Given the description of an element on the screen output the (x, y) to click on. 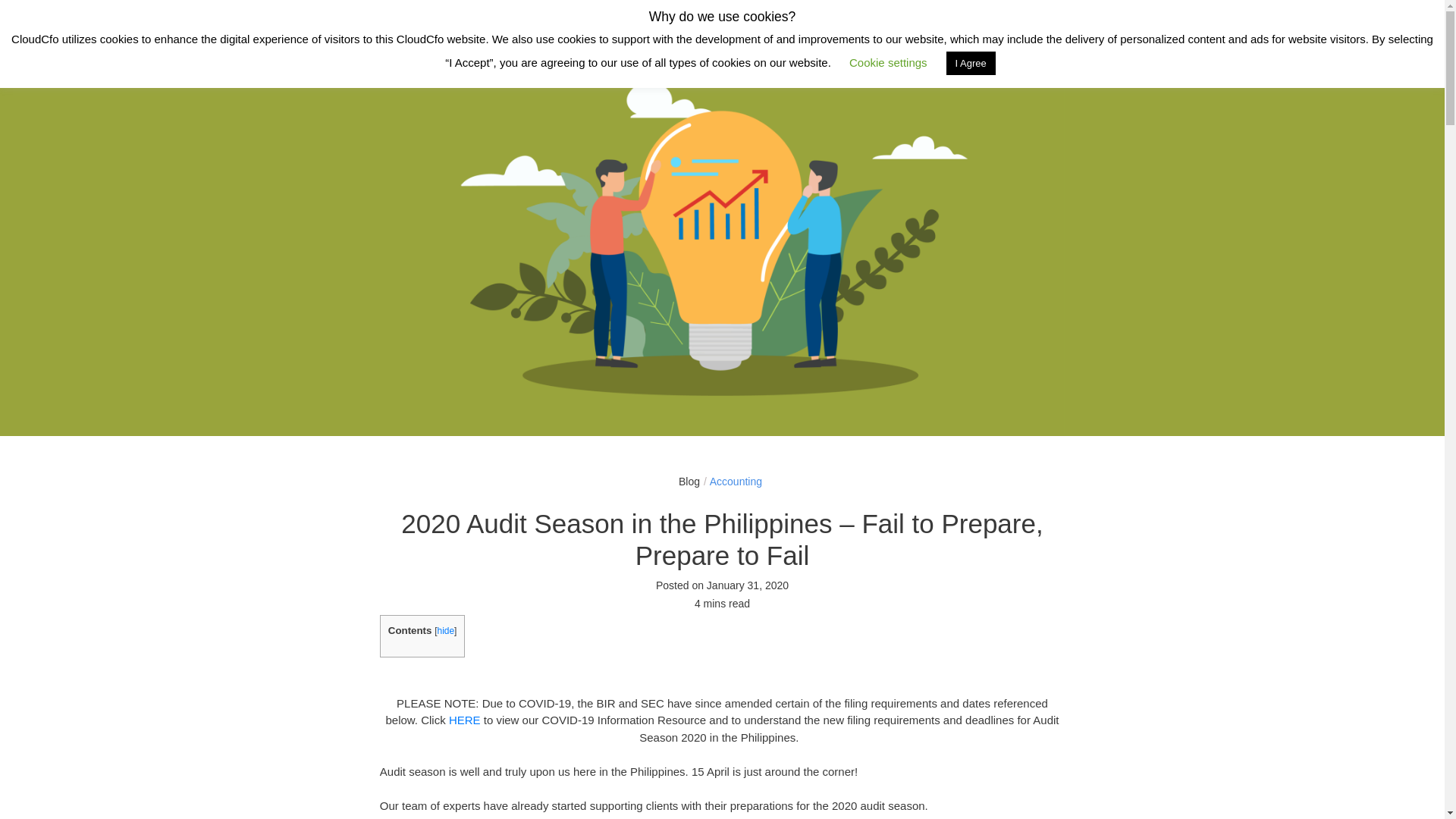
Blog (689, 481)
About Us (686, 20)
How It Works (491, 20)
Philippines (1107, 19)
FAQs (869, 20)
Careers (760, 20)
Blog (818, 20)
Our Services (595, 20)
Contact Us (1306, 24)
